Given the description of an element on the screen output the (x, y) to click on. 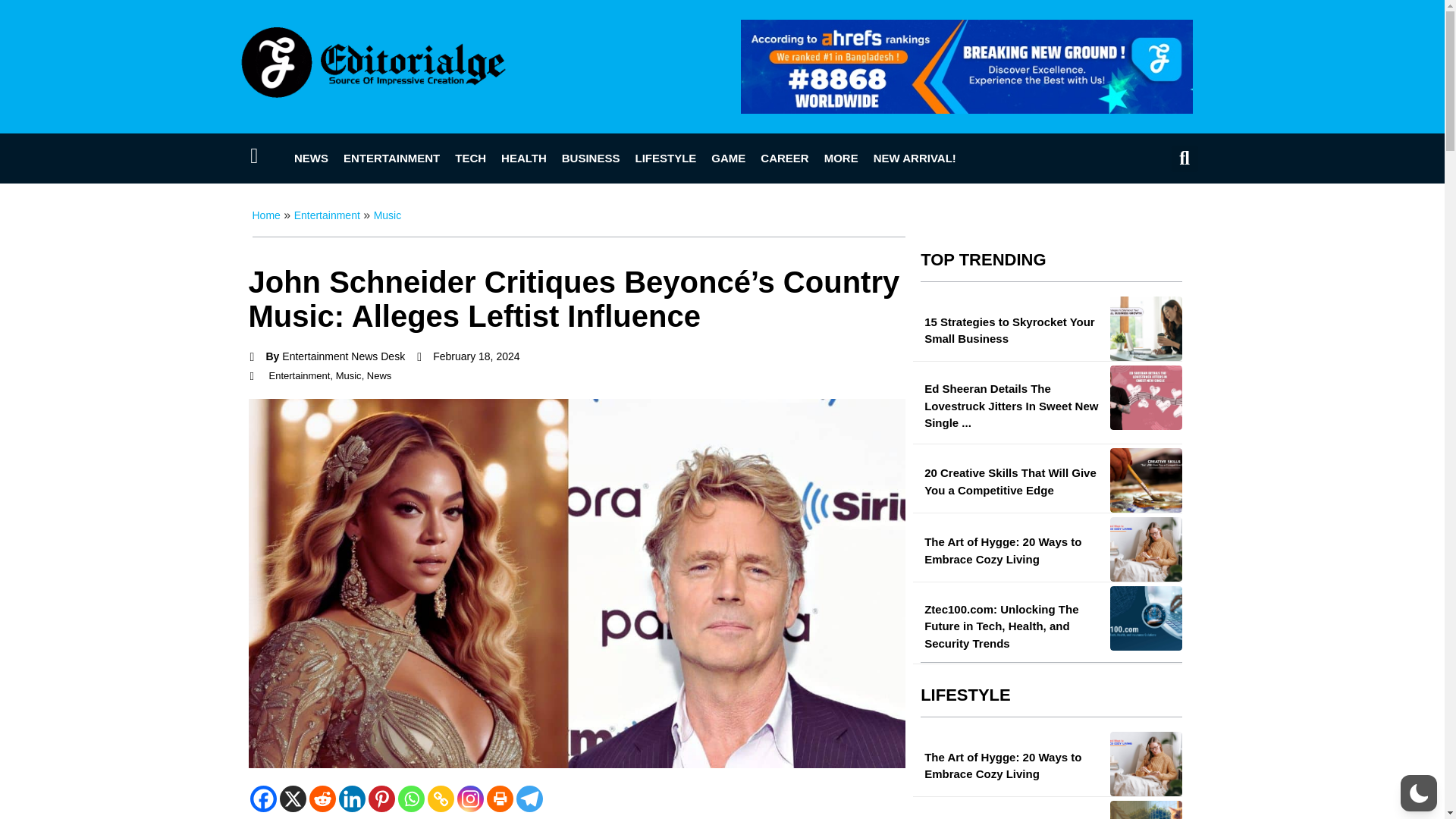
Pinterest (381, 798)
GAME (727, 158)
BUSINESS (590, 158)
X (292, 798)
Instagram (470, 798)
ENTERTAINMENT (391, 158)
CAREER (783, 158)
NEWS (311, 158)
Telegram (528, 798)
Whatsapp (410, 798)
